Given the description of an element on the screen output the (x, y) to click on. 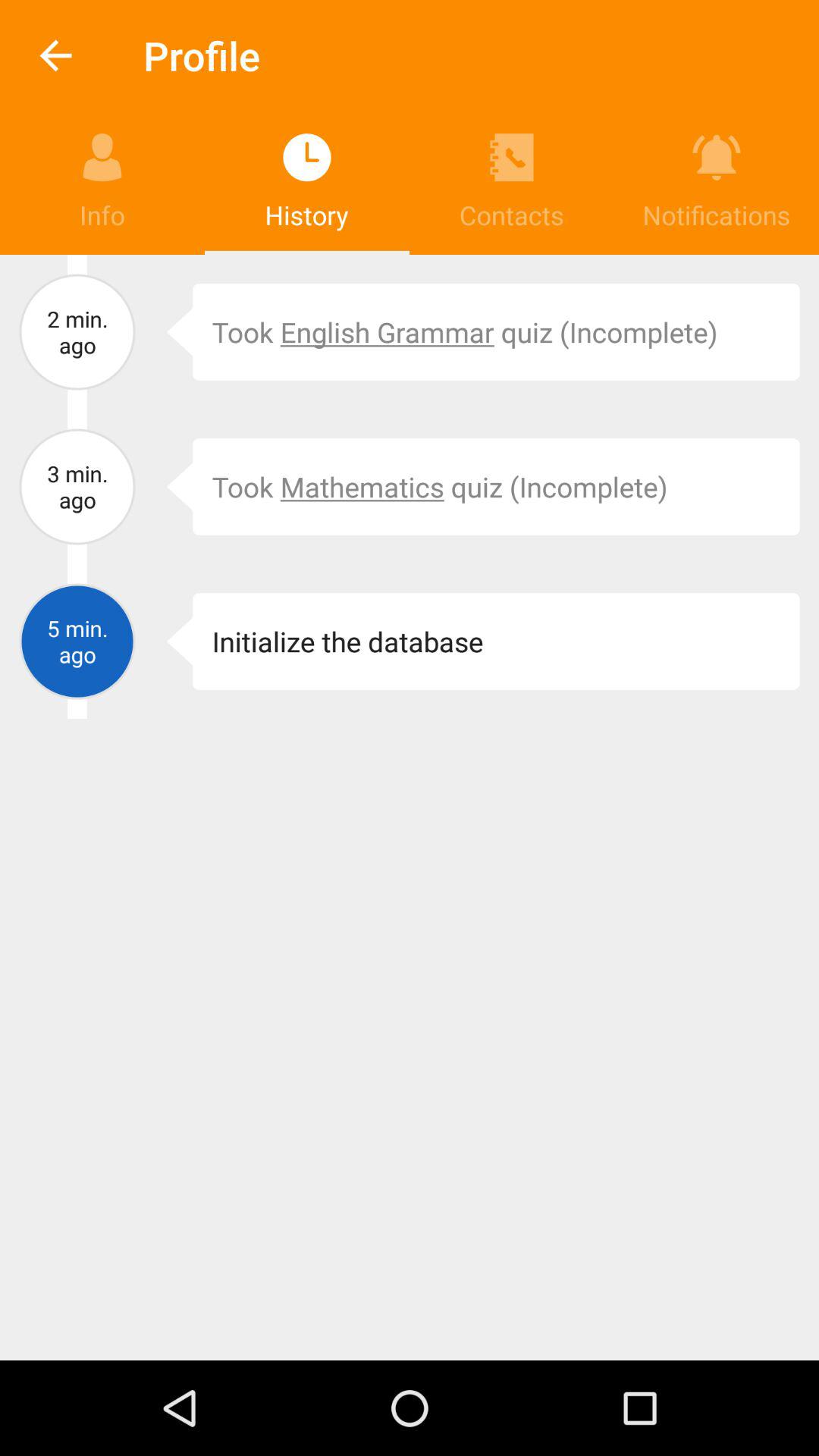
open item above the took mathematics quiz item (495, 331)
